Given the description of an element on the screen output the (x, y) to click on. 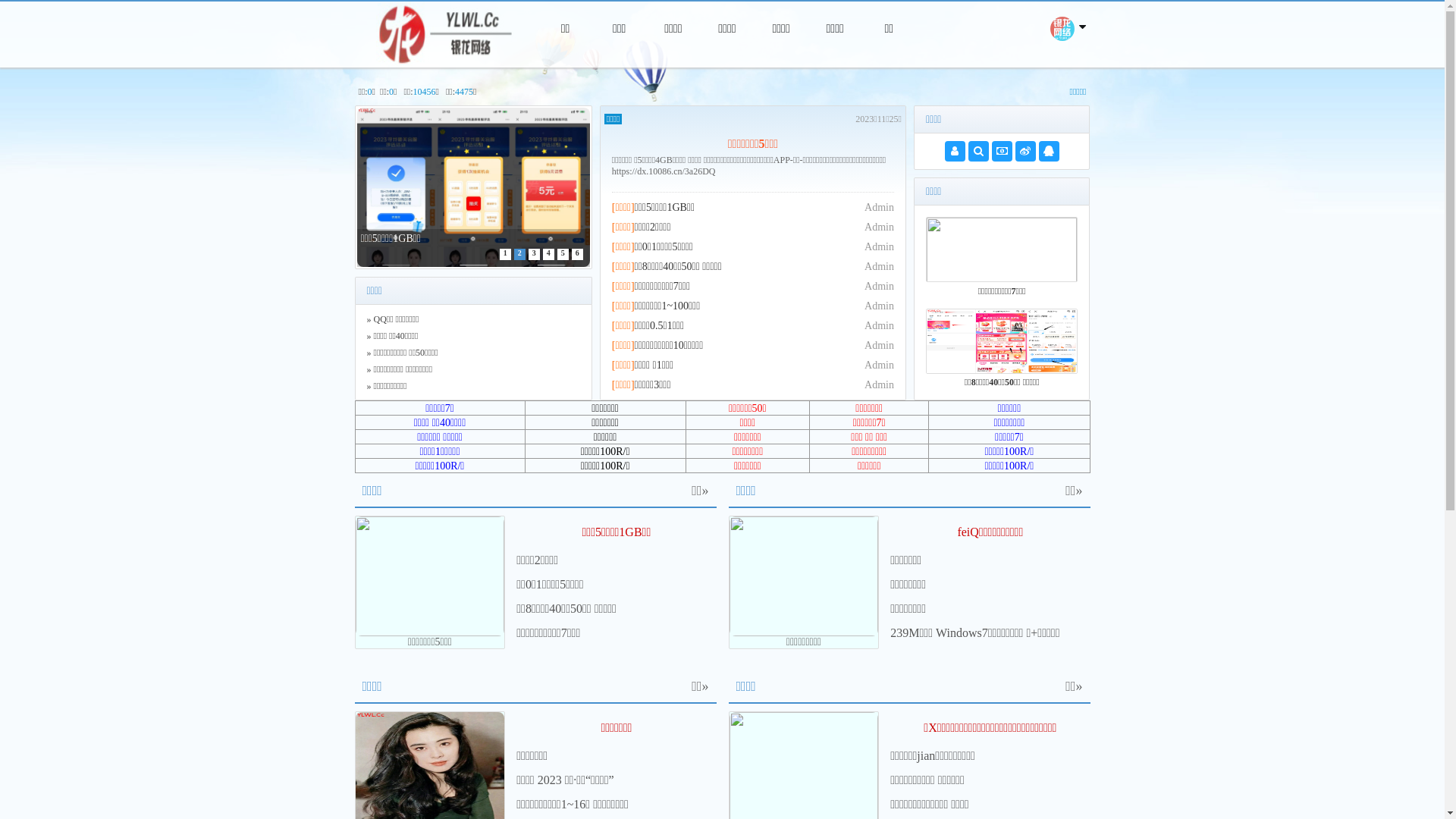
Admin Element type: text (879, 266)
Admin Element type: text (879, 226)
Admin Element type: text (879, 207)
Admin Element type: text (879, 364)
Admin Element type: text (879, 325)
Admin Element type: text (879, 246)
Admin Element type: text (879, 285)
Admin Element type: text (879, 345)
Admin Element type: text (879, 384)
Admin Element type: text (879, 305)
